Given the description of an element on the screen output the (x, y) to click on. 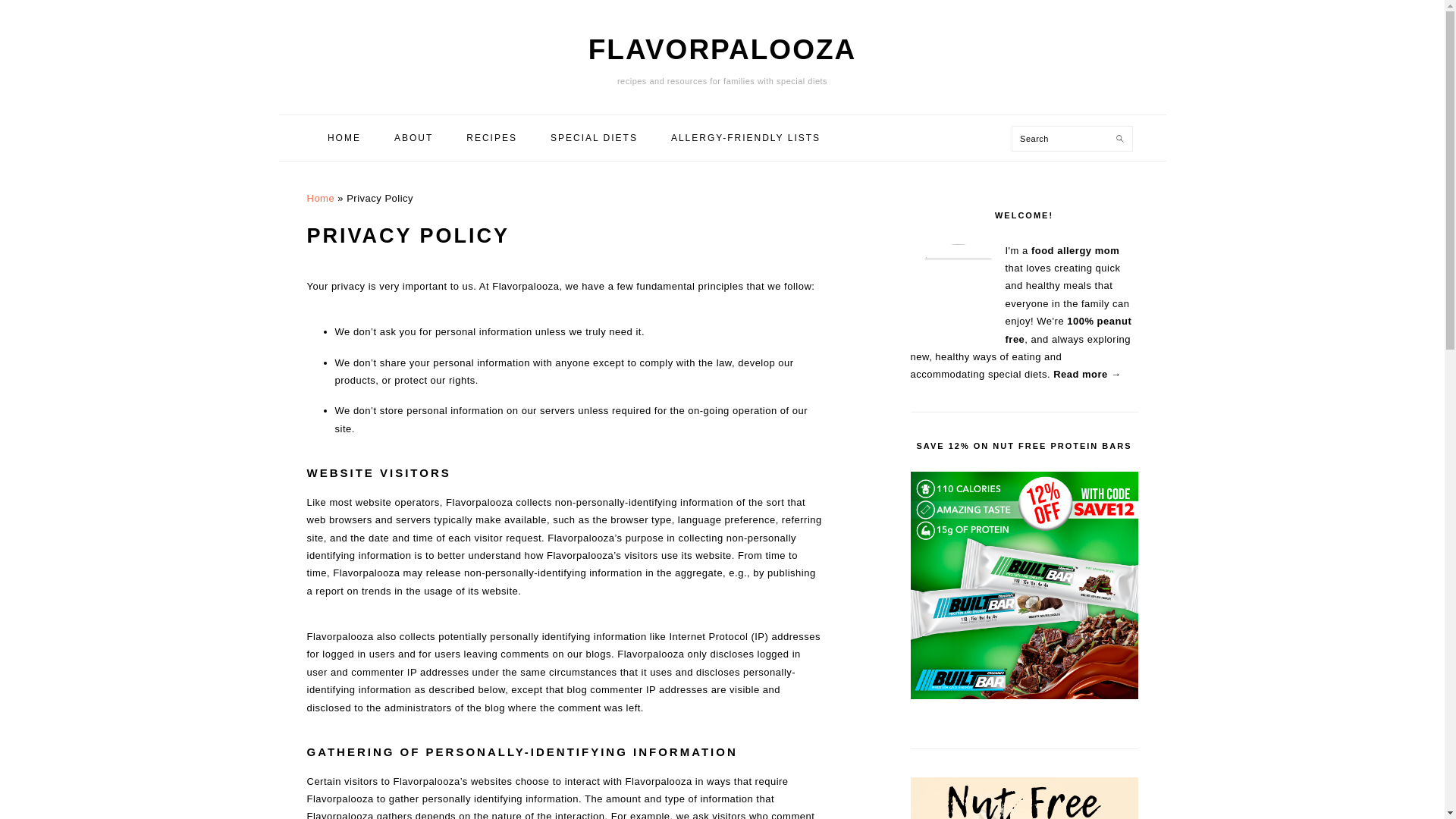
RECIPES (490, 137)
Home (319, 197)
HOME (344, 137)
food allergy mom (1074, 250)
SPECIAL DIETS (593, 137)
ALLERGY-FRIENDLY LISTS (745, 137)
ABOUT (413, 137)
